Given the description of an element on the screen output the (x, y) to click on. 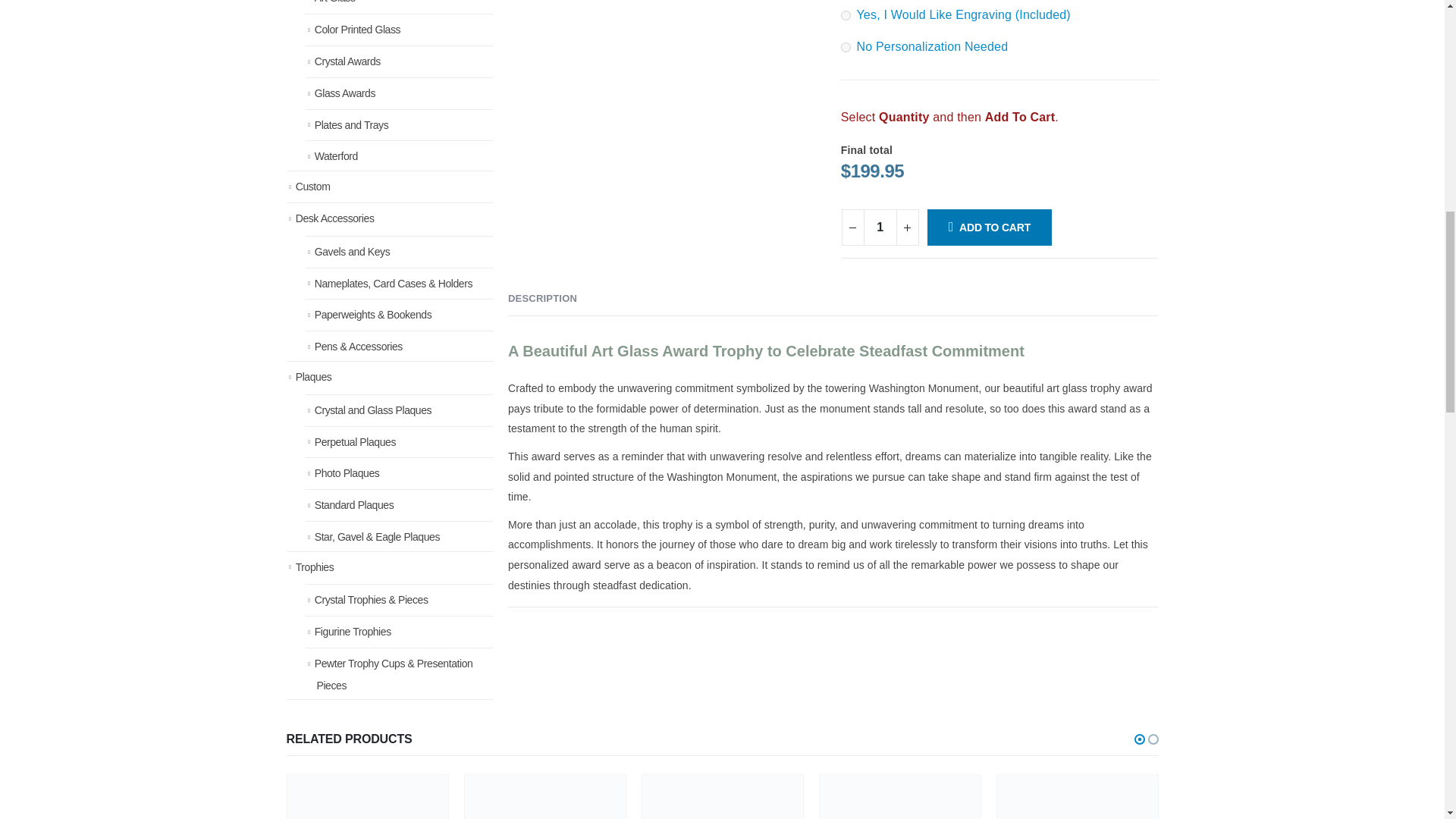
1 (879, 227)
